Given the description of an element on the screen output the (x, y) to click on. 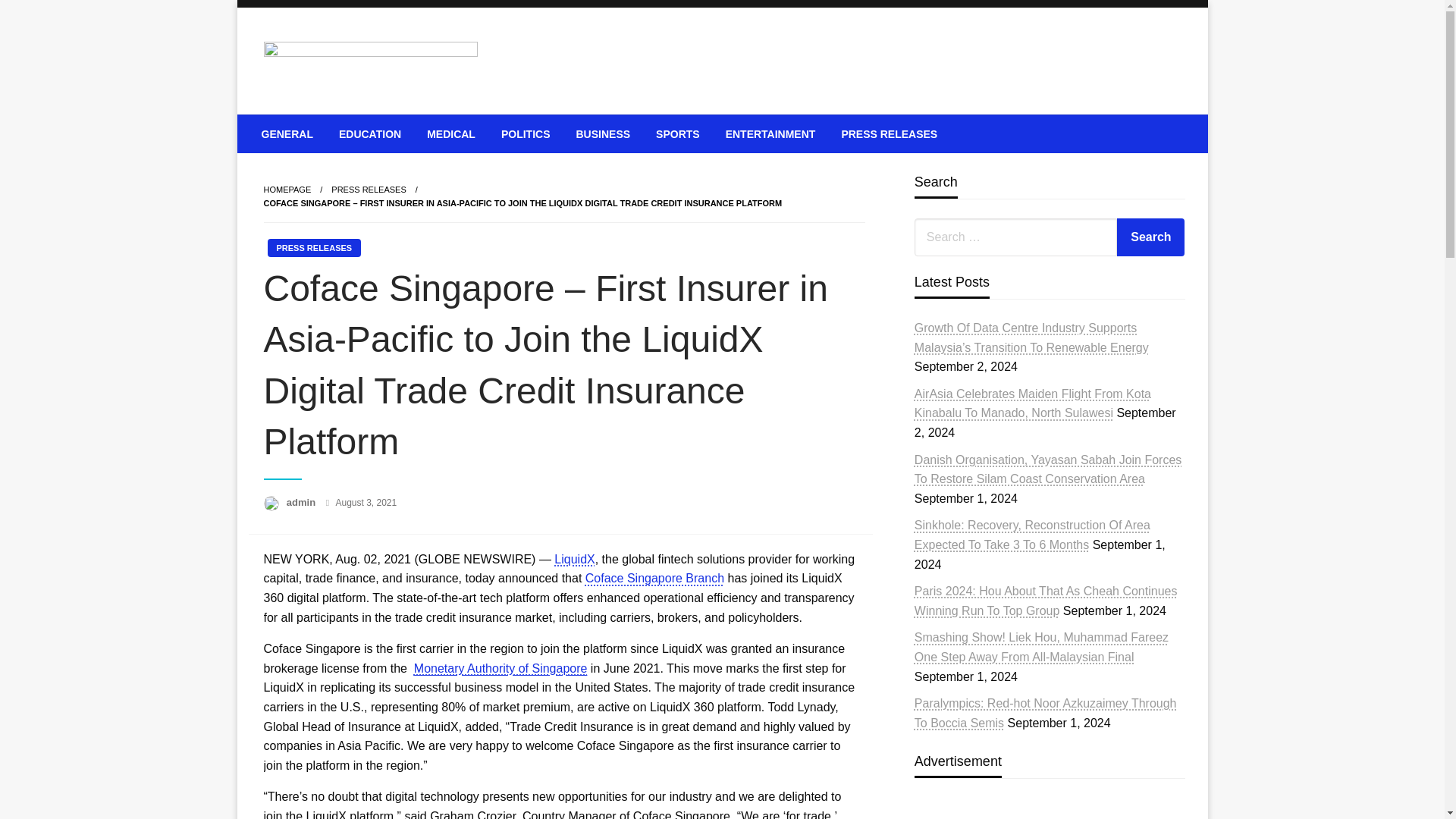
POLITICS (525, 134)
GENERAL (287, 134)
August 3, 2021 (365, 502)
PRESS RELEASES (368, 189)
PRESS RELEASES (889, 134)
SPORTS (678, 134)
MEDICAL (450, 134)
Advertisement (1046, 808)
Monetary Authority of Singapore (500, 667)
PRESS RELEASES (368, 189)
